Given the description of an element on the screen output the (x, y) to click on. 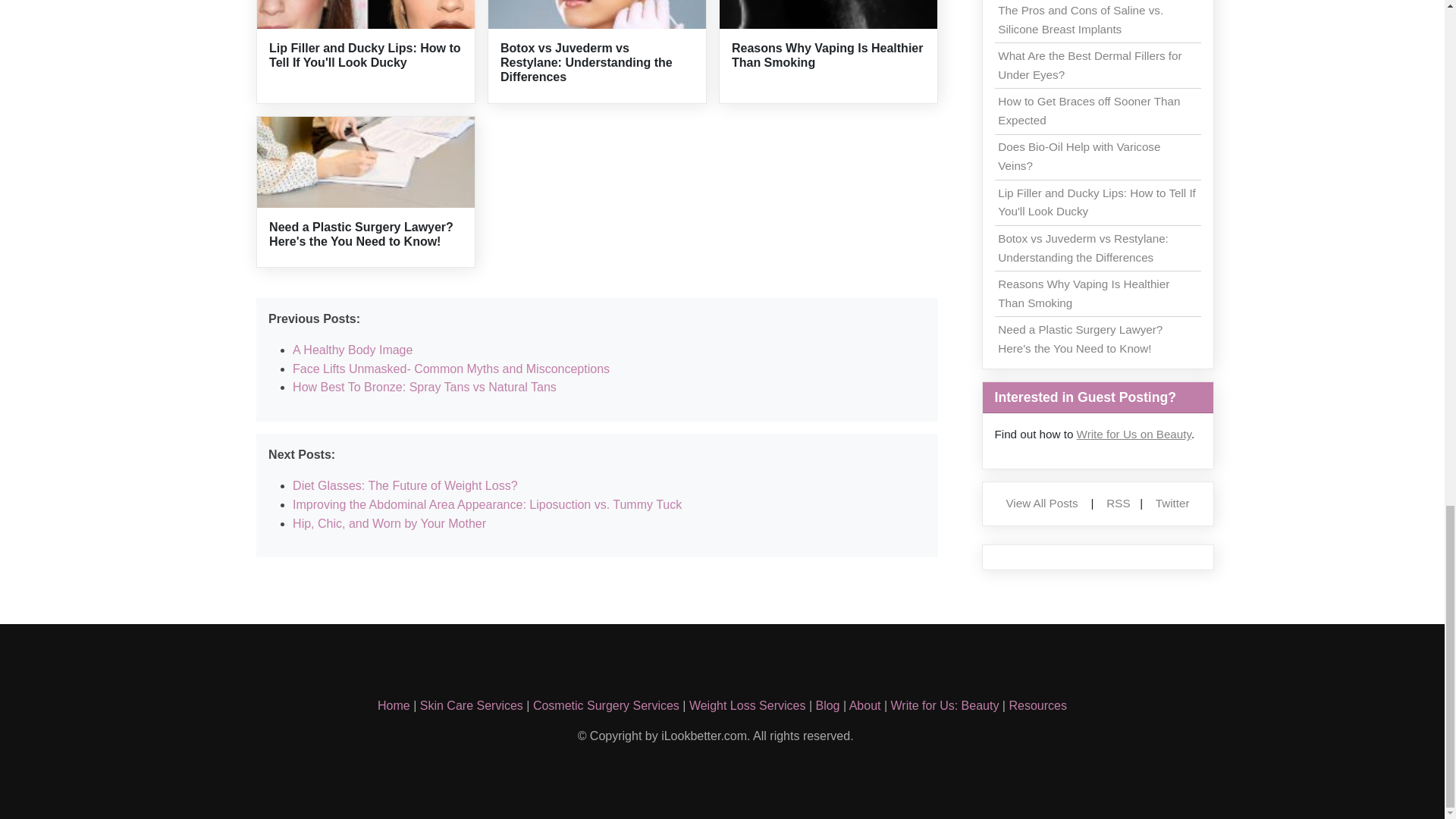
Hip, Chic, and Worn by Your Mother (389, 522)
Diet Glasses: The Future of Weight Loss? (404, 485)
Lip Filler and Ducky Lips: How to Tell If You'll Look Ducky (364, 54)
How Best To Bronze: Spray Tans vs Natural Tans (424, 386)
A Healthy Body Image (352, 349)
Reasons Why Vaping Is Healthier Than Smoking (827, 54)
Need a Plastic Surgery Lawyer? Here's the You Need to Know! (360, 234)
Face Lifts Unmasked- Common Myths and Misconceptions (451, 368)
